Given the description of an element on the screen output the (x, y) to click on. 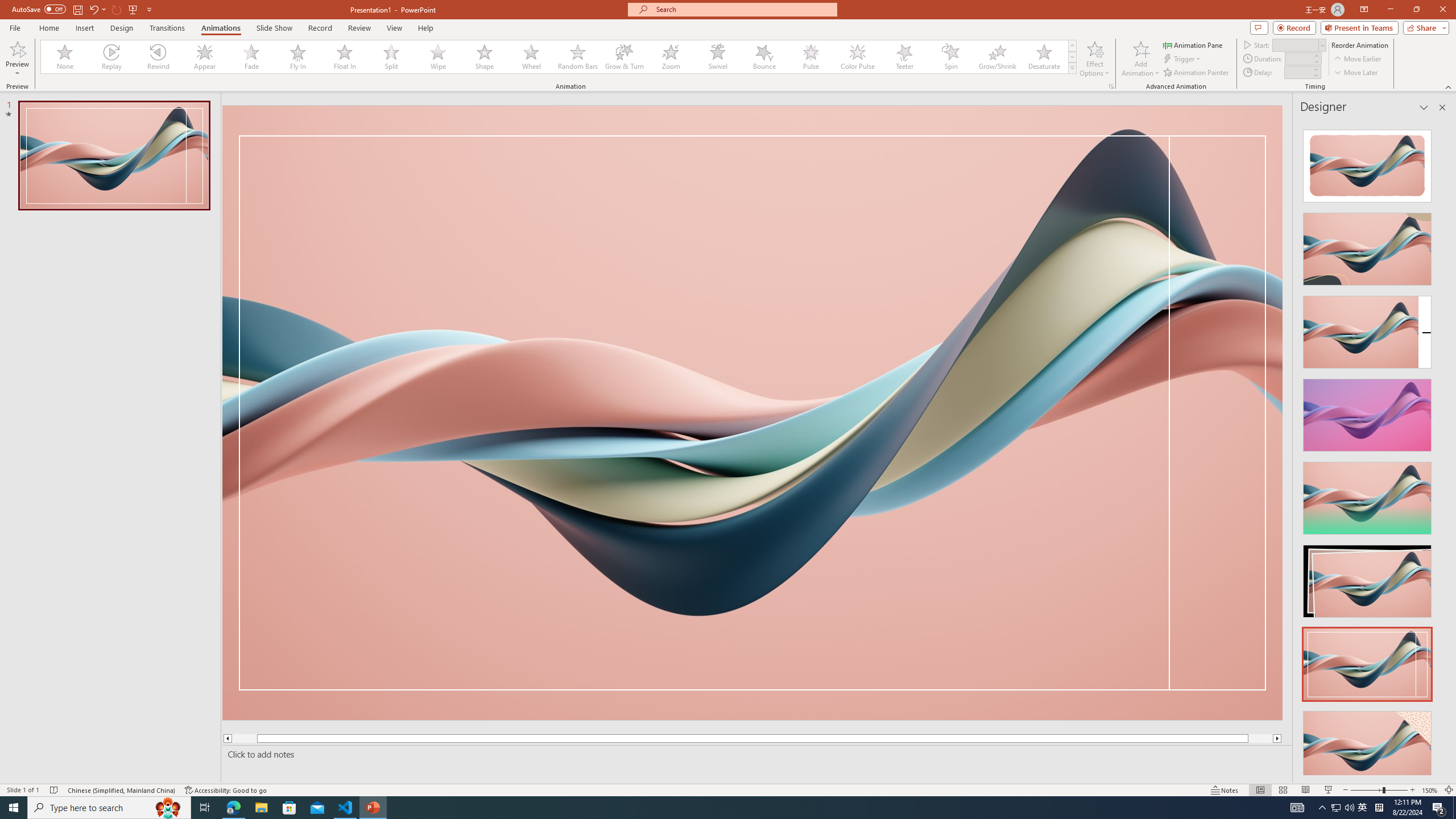
Grow/Shrink (997, 56)
More Options... (1110, 85)
Wheel (531, 56)
Float In (344, 56)
Shape (484, 56)
